Given the description of an element on the screen output the (x, y) to click on. 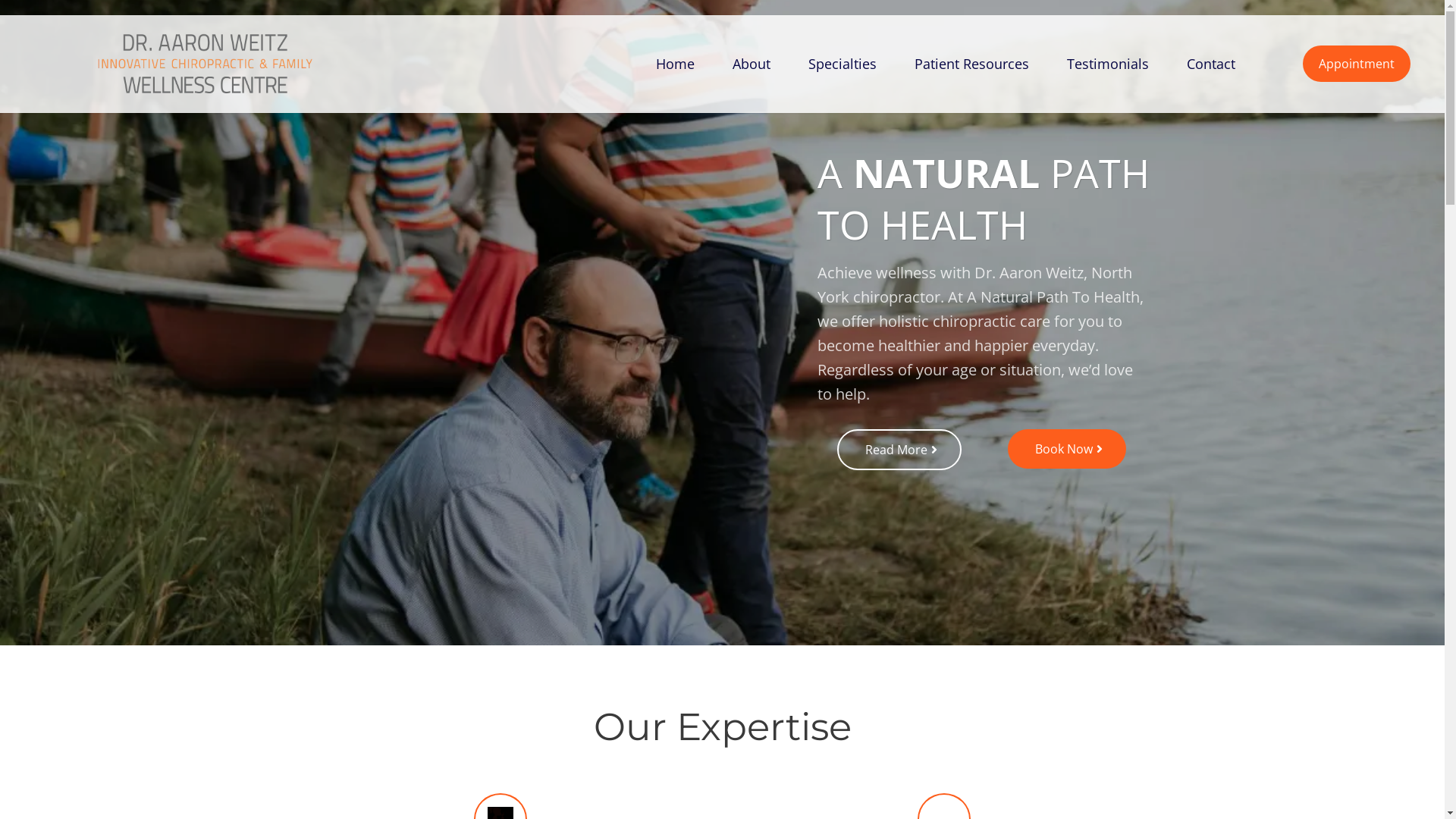
Appointment Element type: text (1356, 63)
Contact Element type: text (1210, 63)
Home Element type: text (675, 63)
Testimonials Element type: text (1107, 63)
Book Now Element type: text (1066, 448)
Read More Element type: text (899, 449)
Patient Resources Element type: text (971, 63)
About Element type: text (751, 63)
Specialties Element type: text (842, 63)
